Given the description of an element on the screen output the (x, y) to click on. 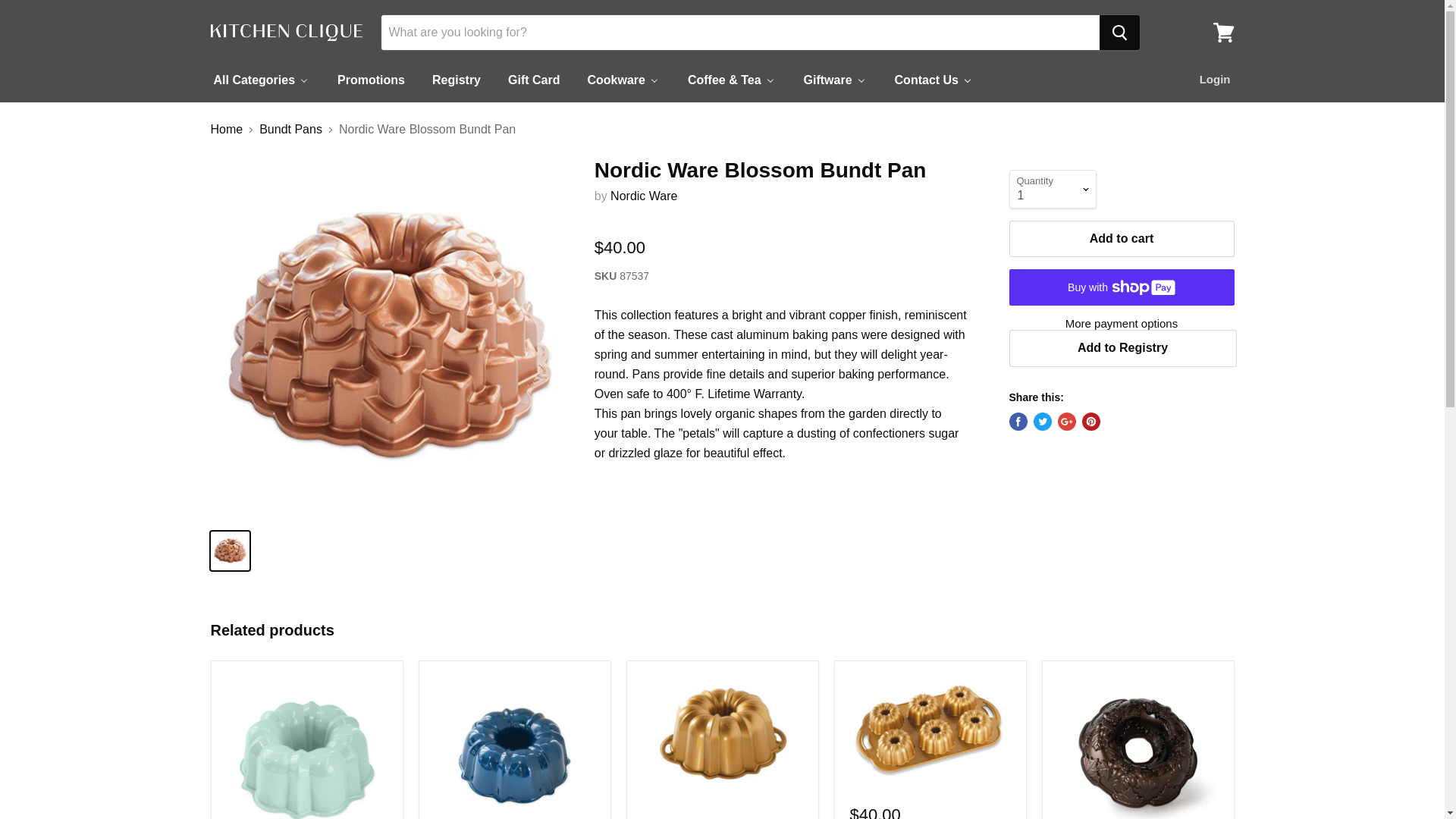
Add to Registry (1122, 348)
All Categories (260, 79)
View cart (1223, 32)
